Given the description of an element on the screen output the (x, y) to click on. 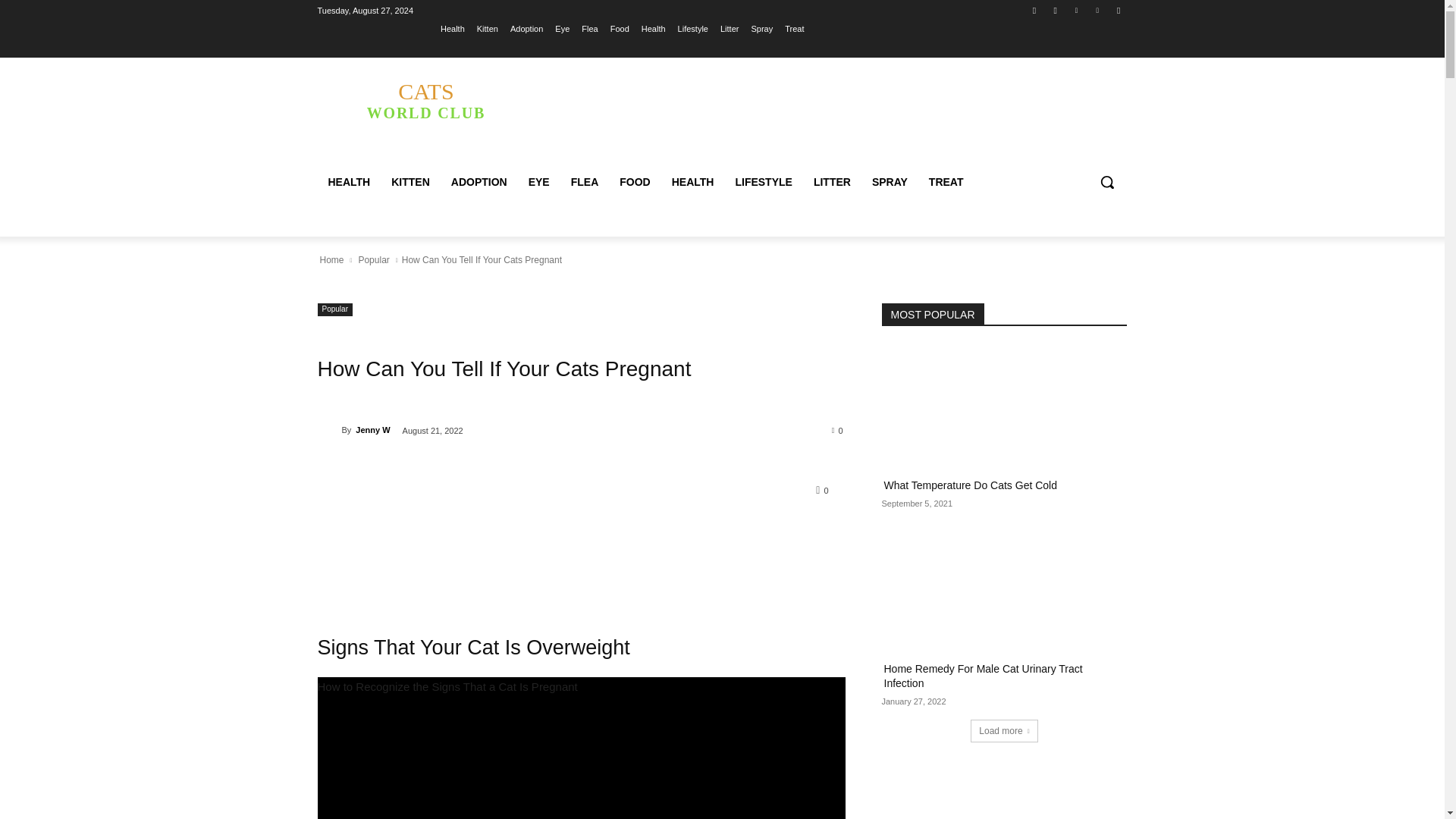
Health (653, 28)
Jenny W (328, 429)
Twitter (1075, 9)
Instagram (1055, 9)
Health (452, 28)
Facebook (1034, 9)
Adoption (527, 28)
KITTEN (410, 181)
Spray (762, 28)
HEALTH (348, 181)
